Given the description of an element on the screen output the (x, y) to click on. 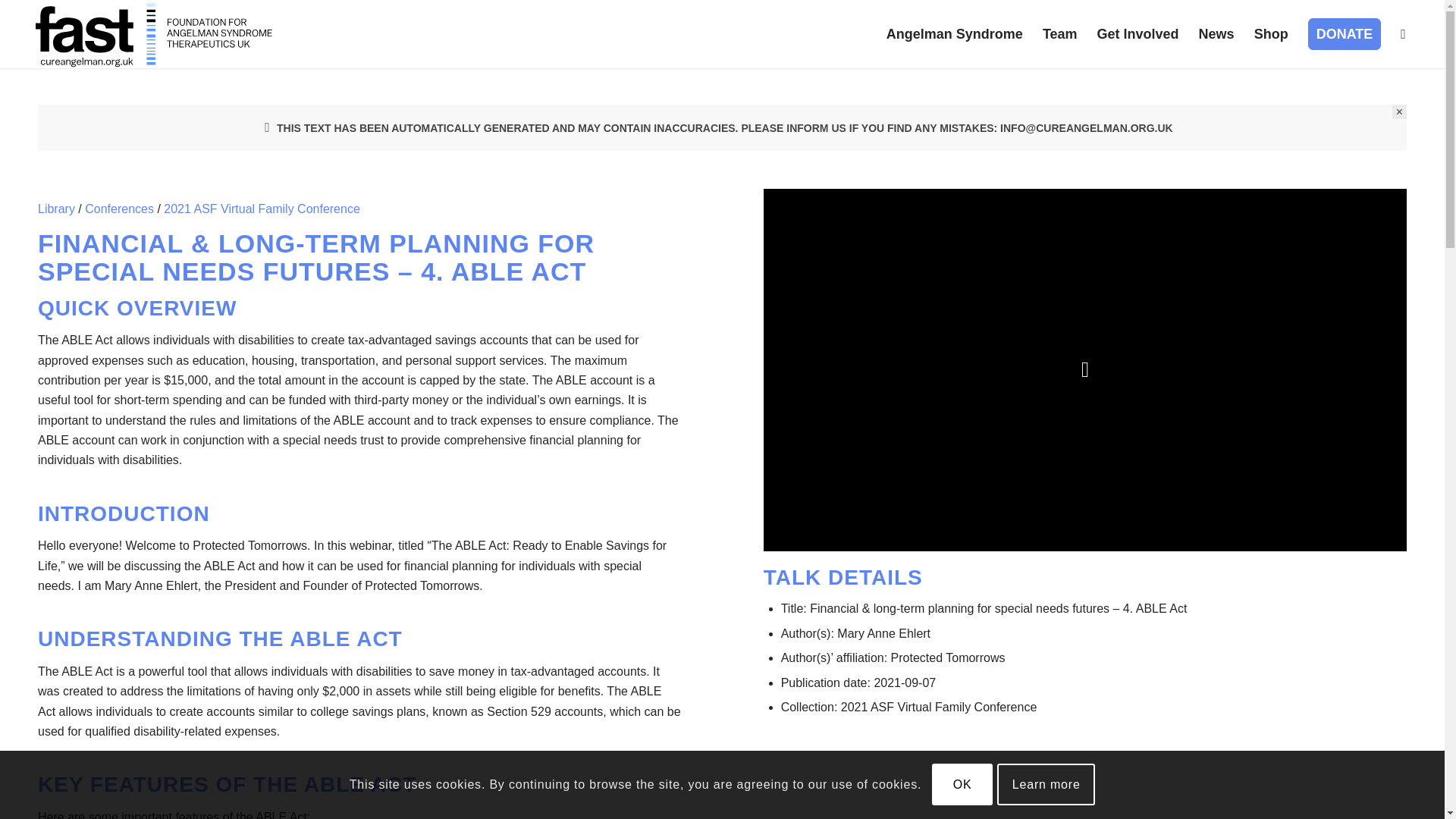
Conferences (119, 208)
FAST UK Logo with text and url (154, 33)
2021 ASF Virtual Family Conference (261, 208)
Get Involved (1138, 33)
DONATE (1344, 33)
Get Involved (1138, 33)
What is Angelman Syndrome (954, 33)
Donate for a cure (1344, 33)
Angelman Syndrome (954, 33)
Library (56, 208)
